Given the description of an element on the screen output the (x, y) to click on. 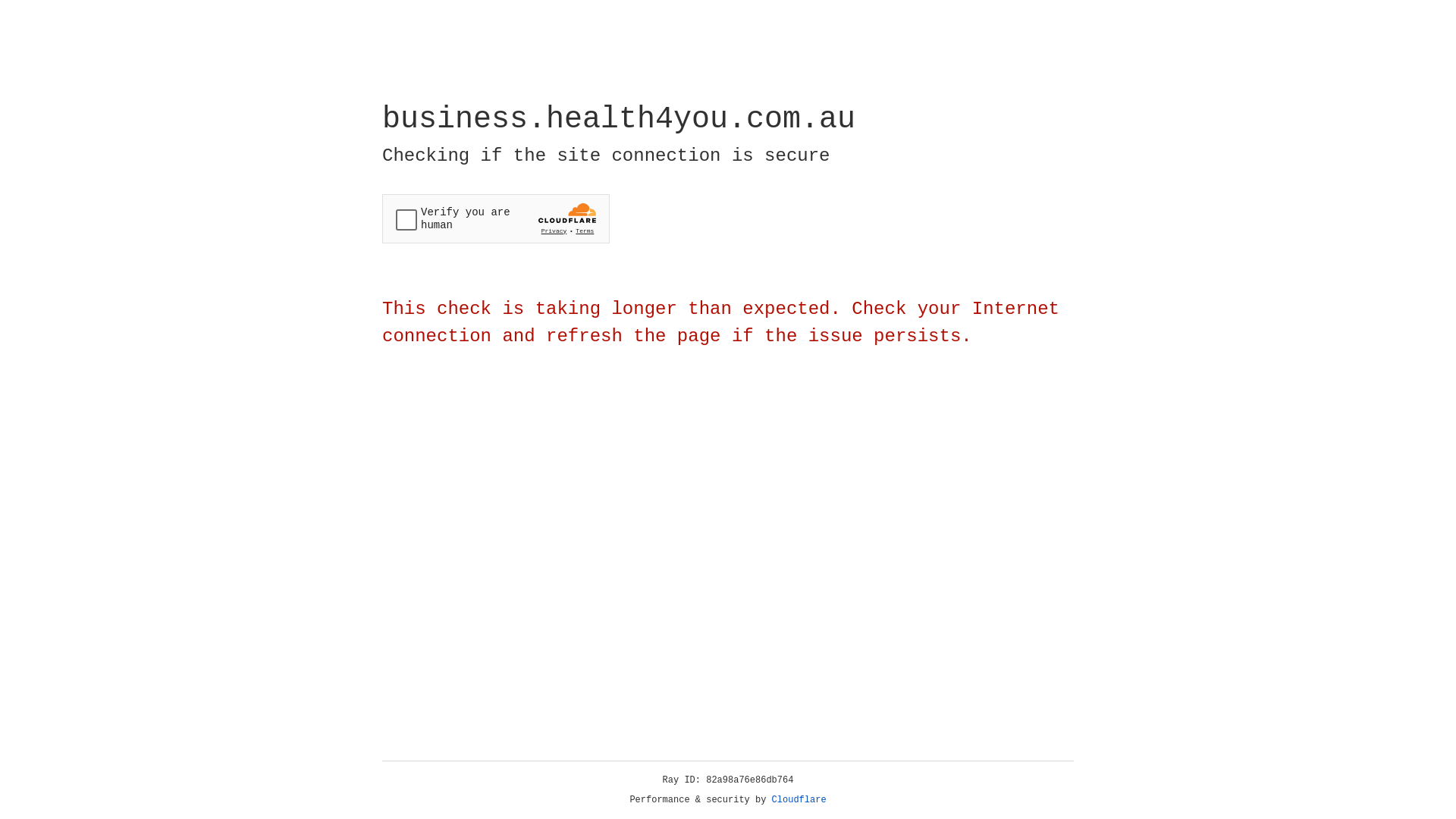
Widget containing a Cloudflare security challenge Element type: hover (495, 218)
Cloudflare Element type: text (798, 799)
